Given the description of an element on the screen output the (x, y) to click on. 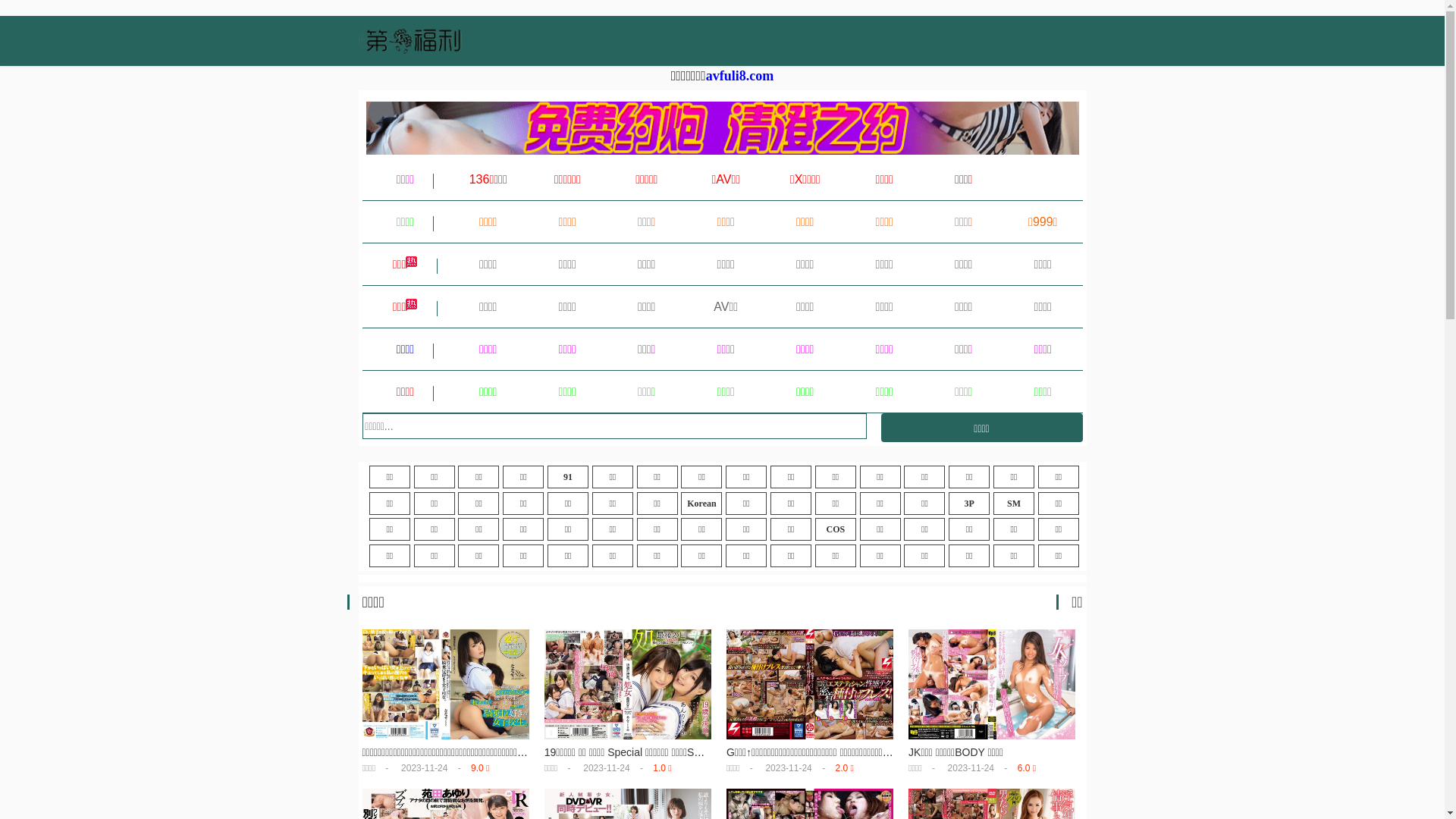
3P Element type: text (968, 503)
91 Element type: text (567, 476)
Korean Element type: text (700, 503)
COS Element type: text (835, 528)
SM Element type: text (1013, 503)
